Given the description of an element on the screen output the (x, y) to click on. 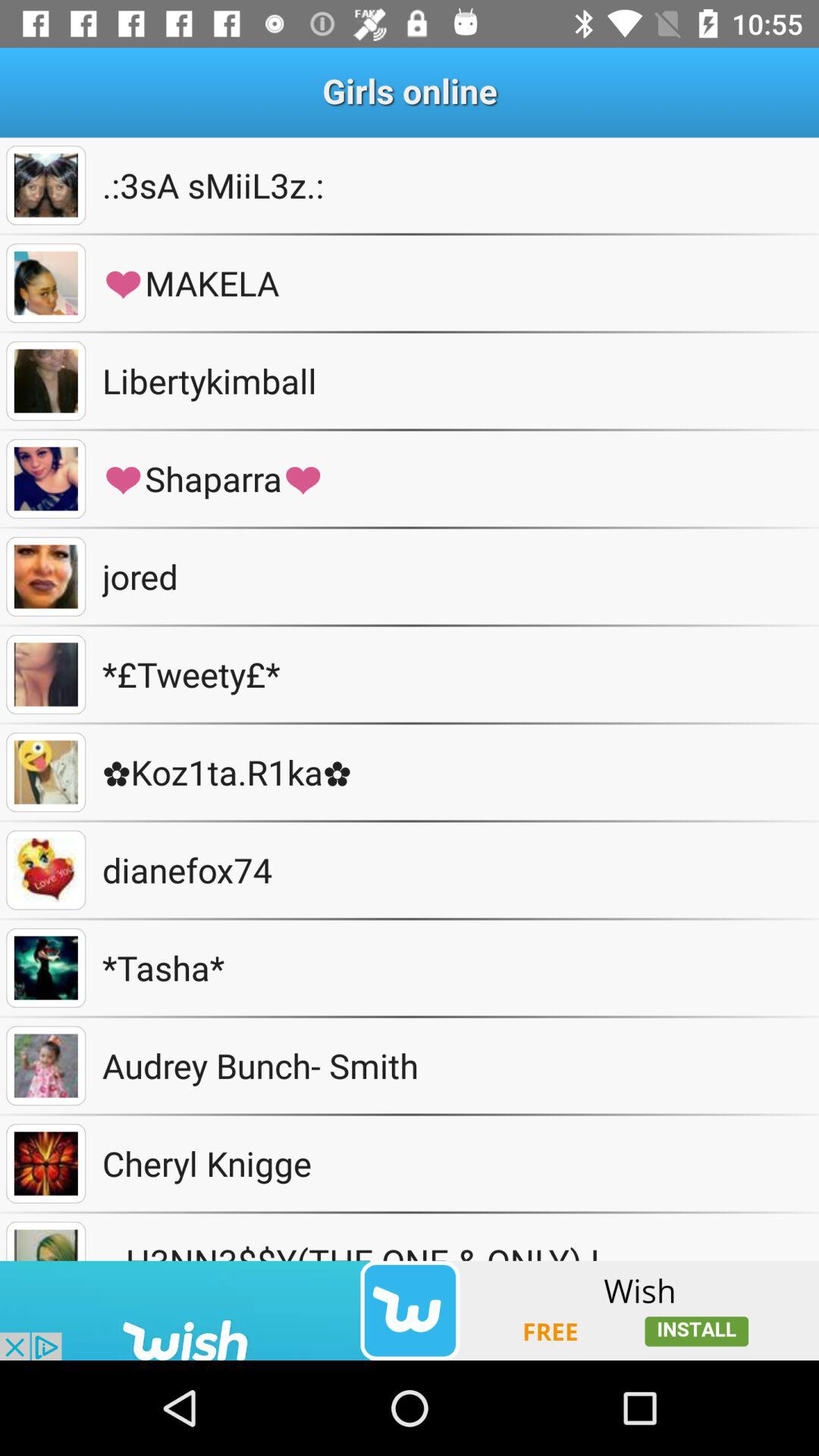
choose profile (45, 772)
